Given the description of an element on the screen output the (x, y) to click on. 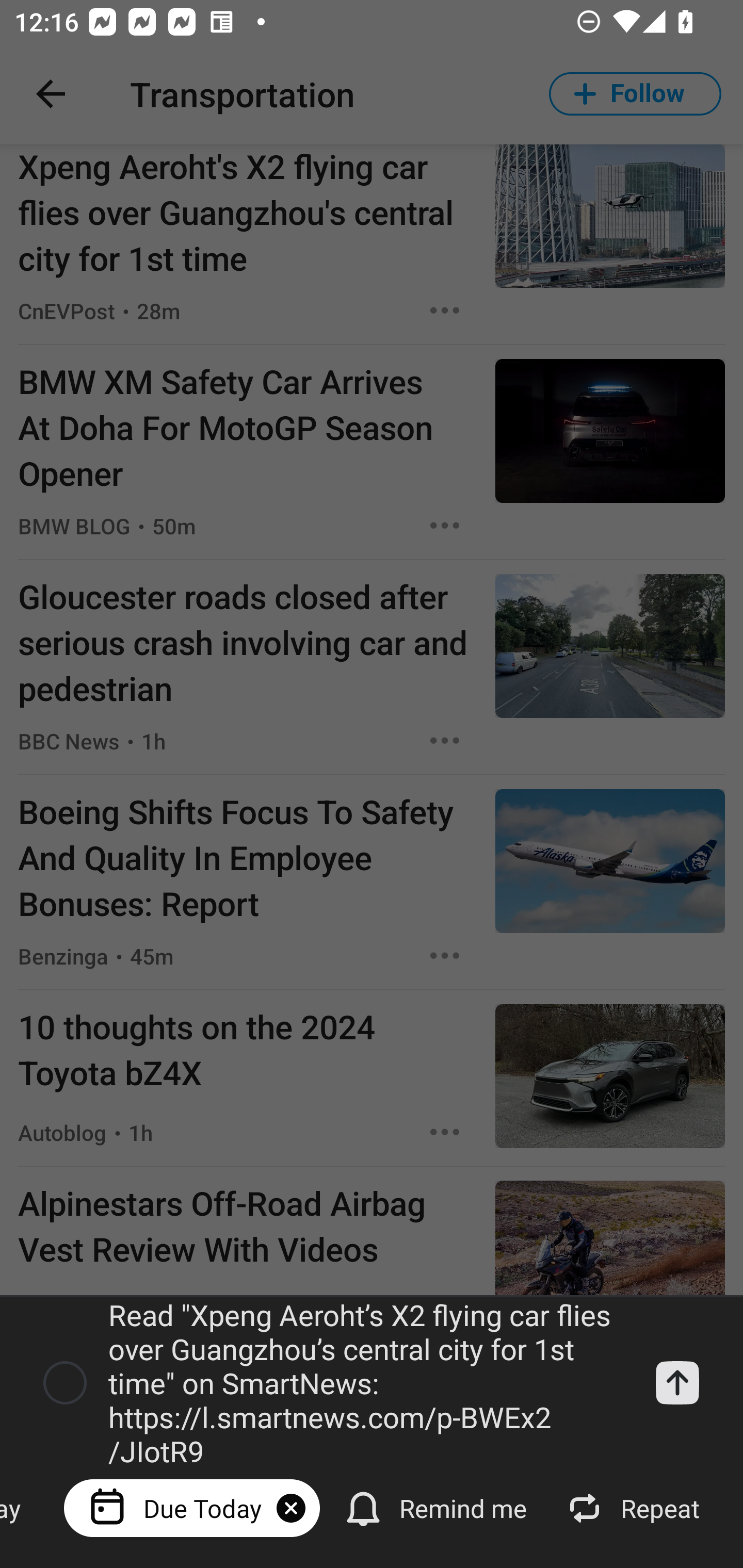
Add a task (676, 1382)
Due Today Remove due date (191, 1507)
Remind me (437, 1507)
Repeat (634, 1507)
Remove due date (290, 1508)
